Given the description of an element on the screen output the (x, y) to click on. 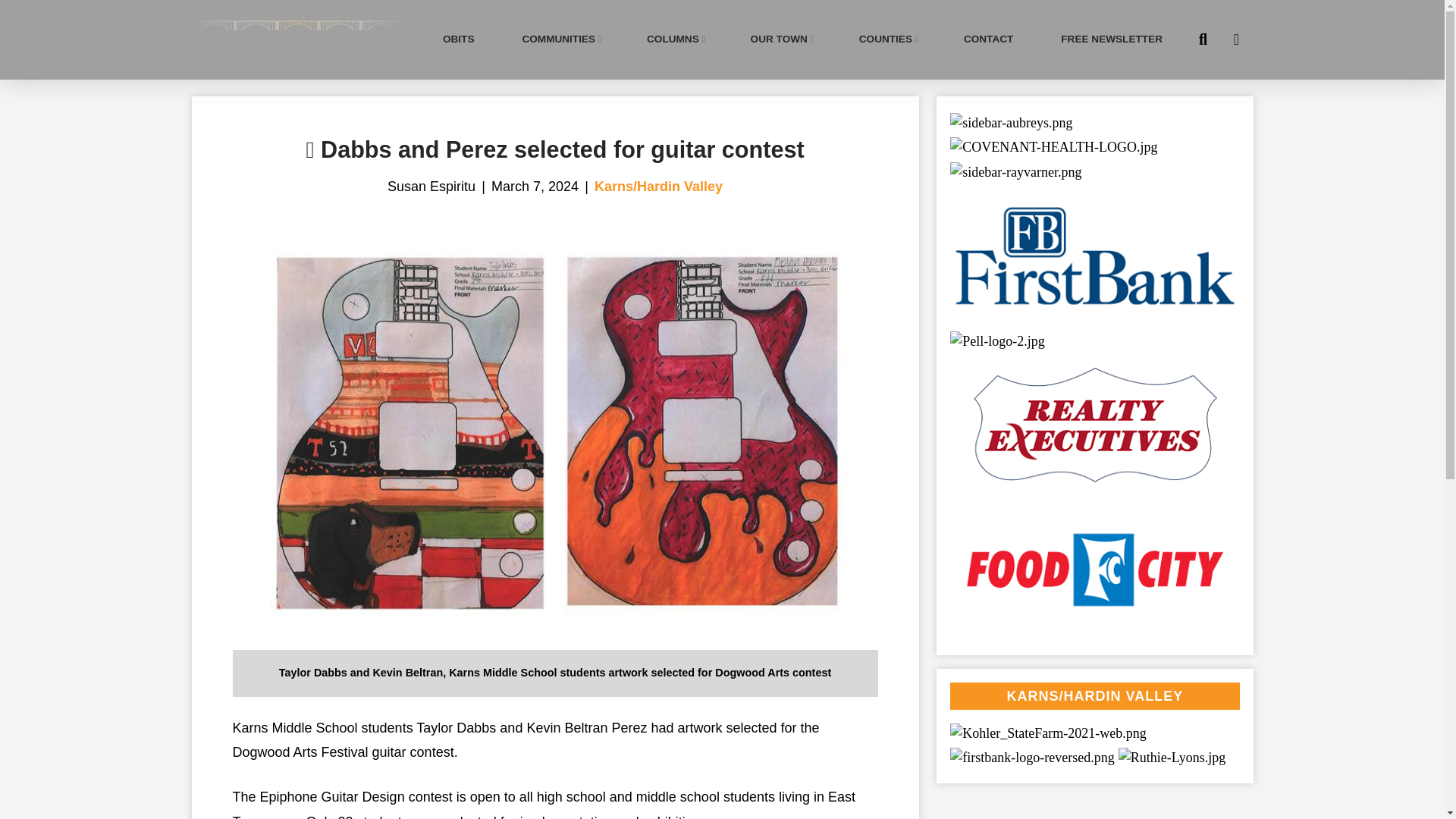
COMMUNITIES (560, 39)
OBITS (458, 39)
COLUMNS (674, 39)
OUR TOWN (780, 39)
